Given the description of an element on the screen output the (x, y) to click on. 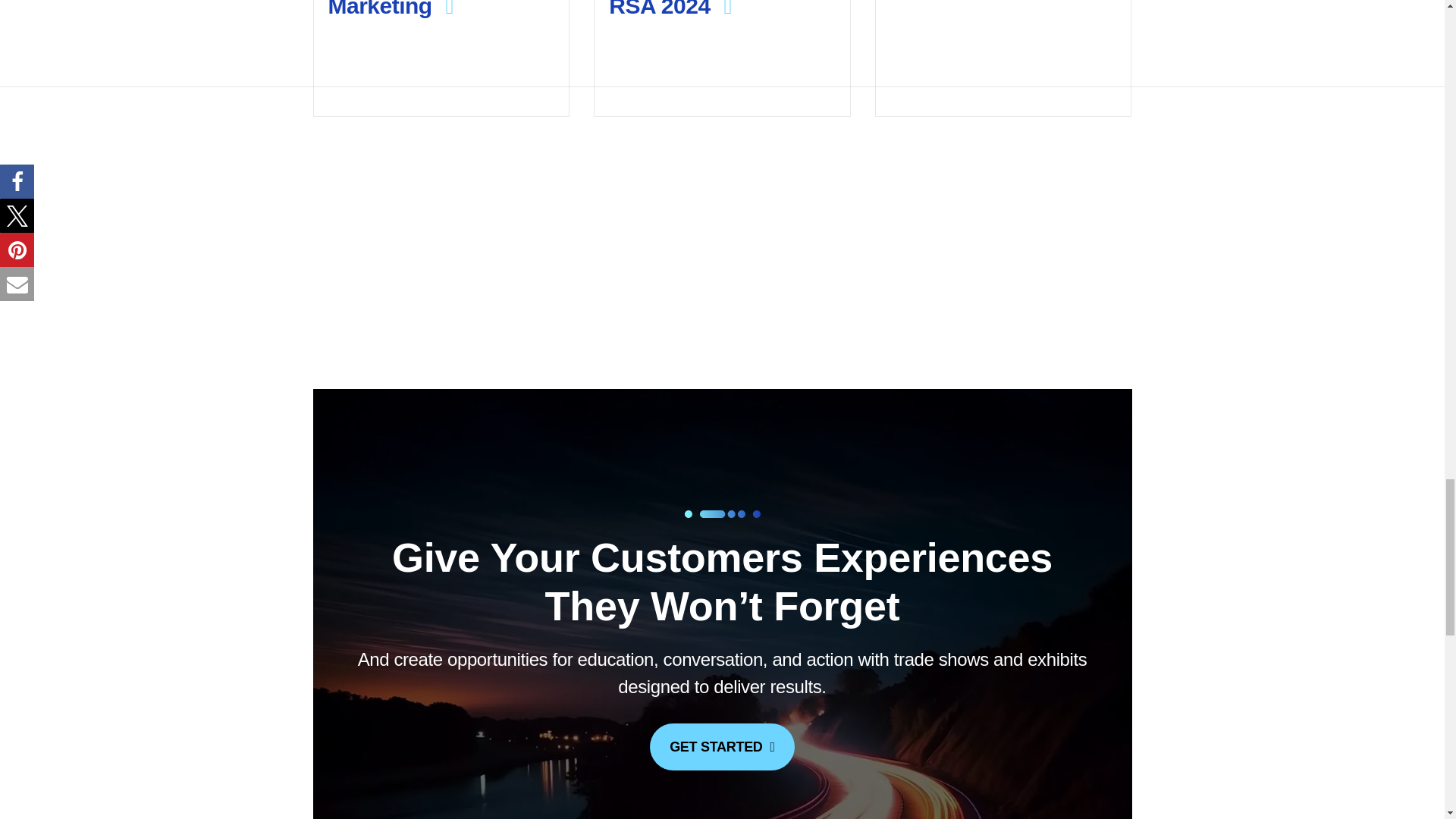
GET STARTED (721, 746)
